Given the description of an element on the screen output the (x, y) to click on. 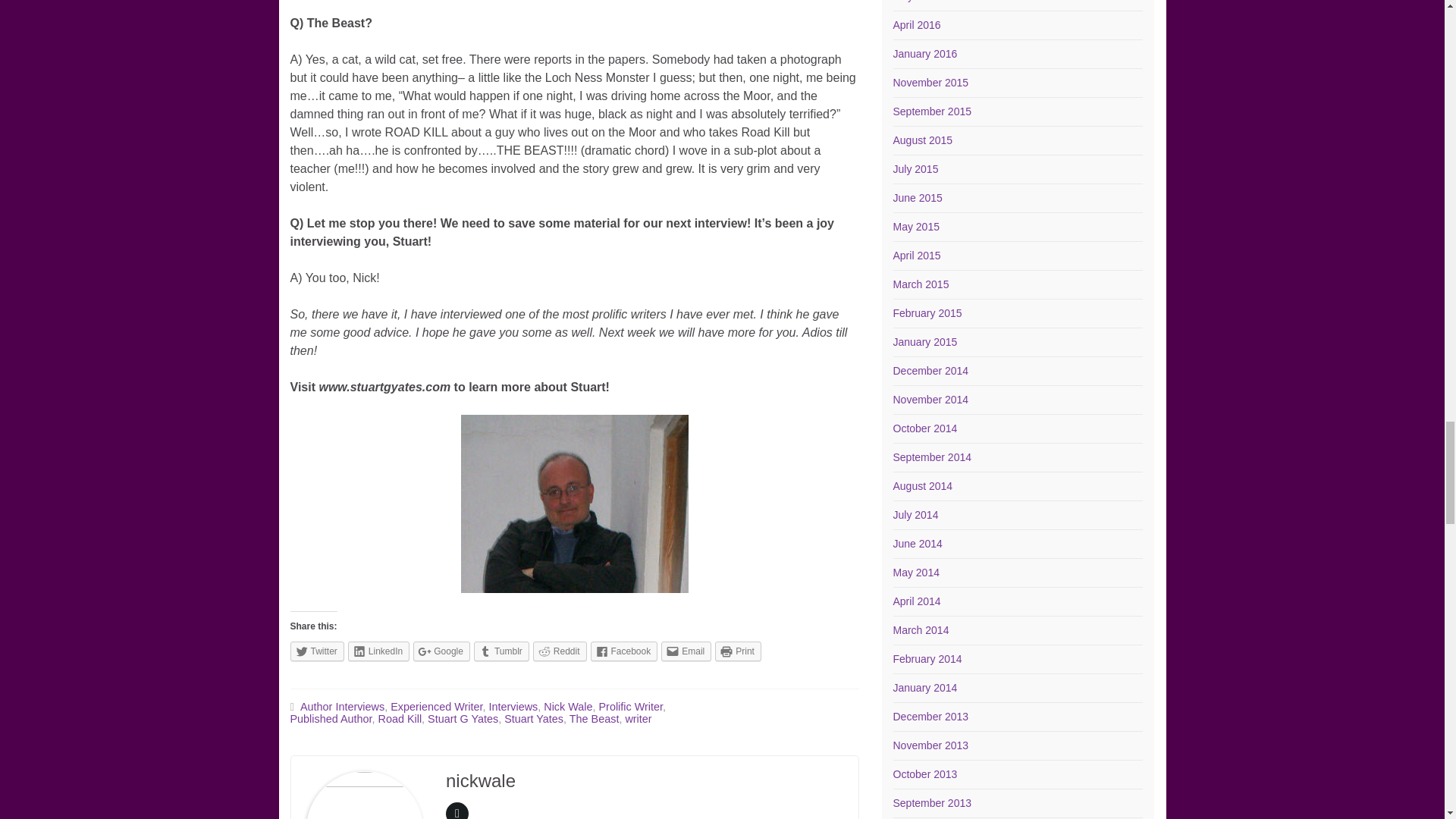
LinkedIn (378, 650)
Published Author (330, 718)
Tumblr (501, 650)
Email (686, 650)
Twitter (316, 650)
Print (737, 650)
The Beast (594, 718)
Click to share on LinkedIn (378, 650)
Stuart Yates (533, 718)
Reddit (559, 650)
